Given the description of an element on the screen output the (x, y) to click on. 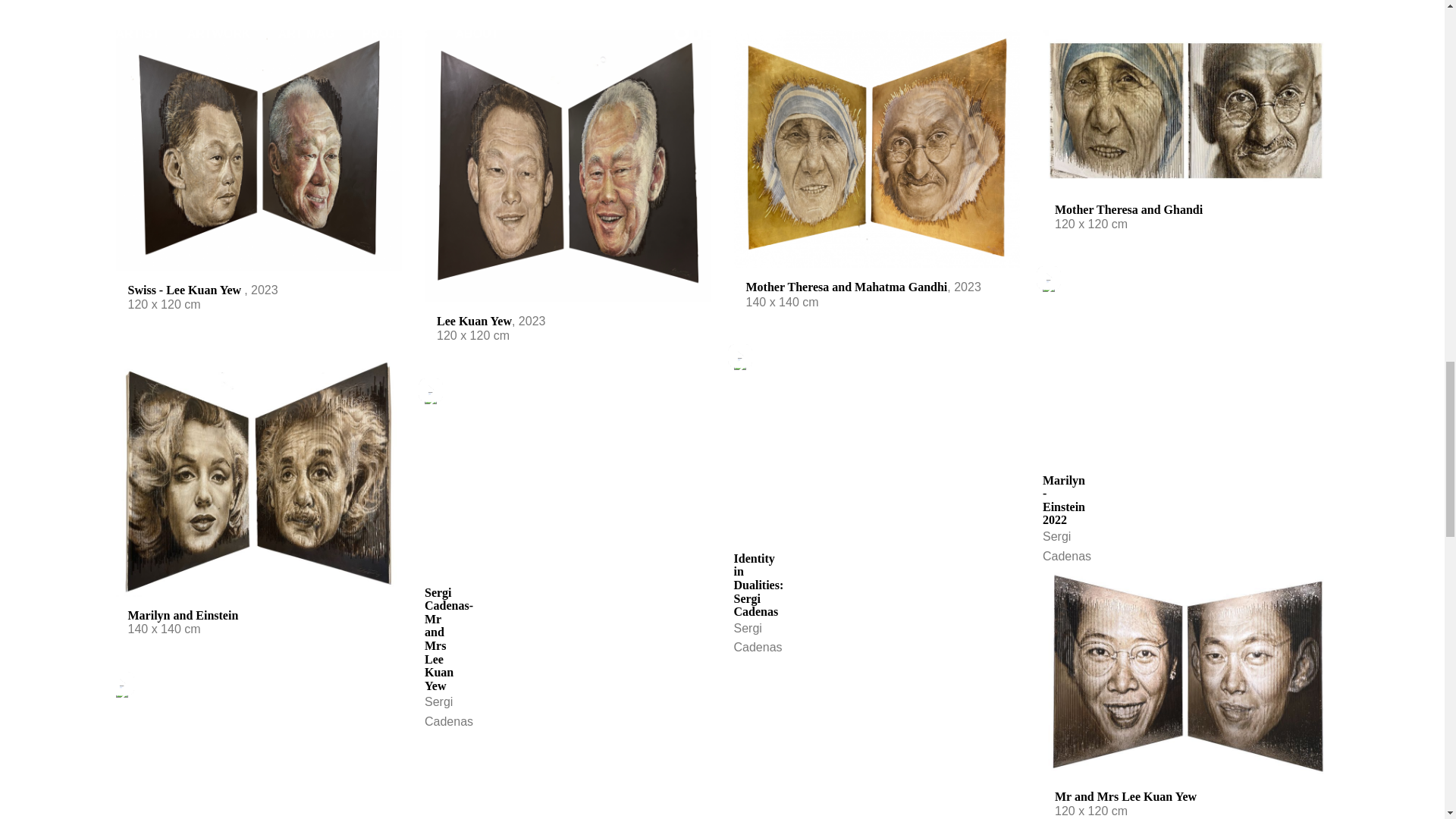
Marilyn and Einstein by  (258, 478)
Mr and Mrs Lee Kuan Yew by  (1185, 674)
Lee Kuan Yew by  (568, 166)
Swiss - Lee Kuan Yew  by  (258, 150)
Mother Theresa and Ghandi by  (1185, 110)
Mother Theresa and Mahatma Gandhi by  (876, 149)
